Given the description of an element on the screen output the (x, y) to click on. 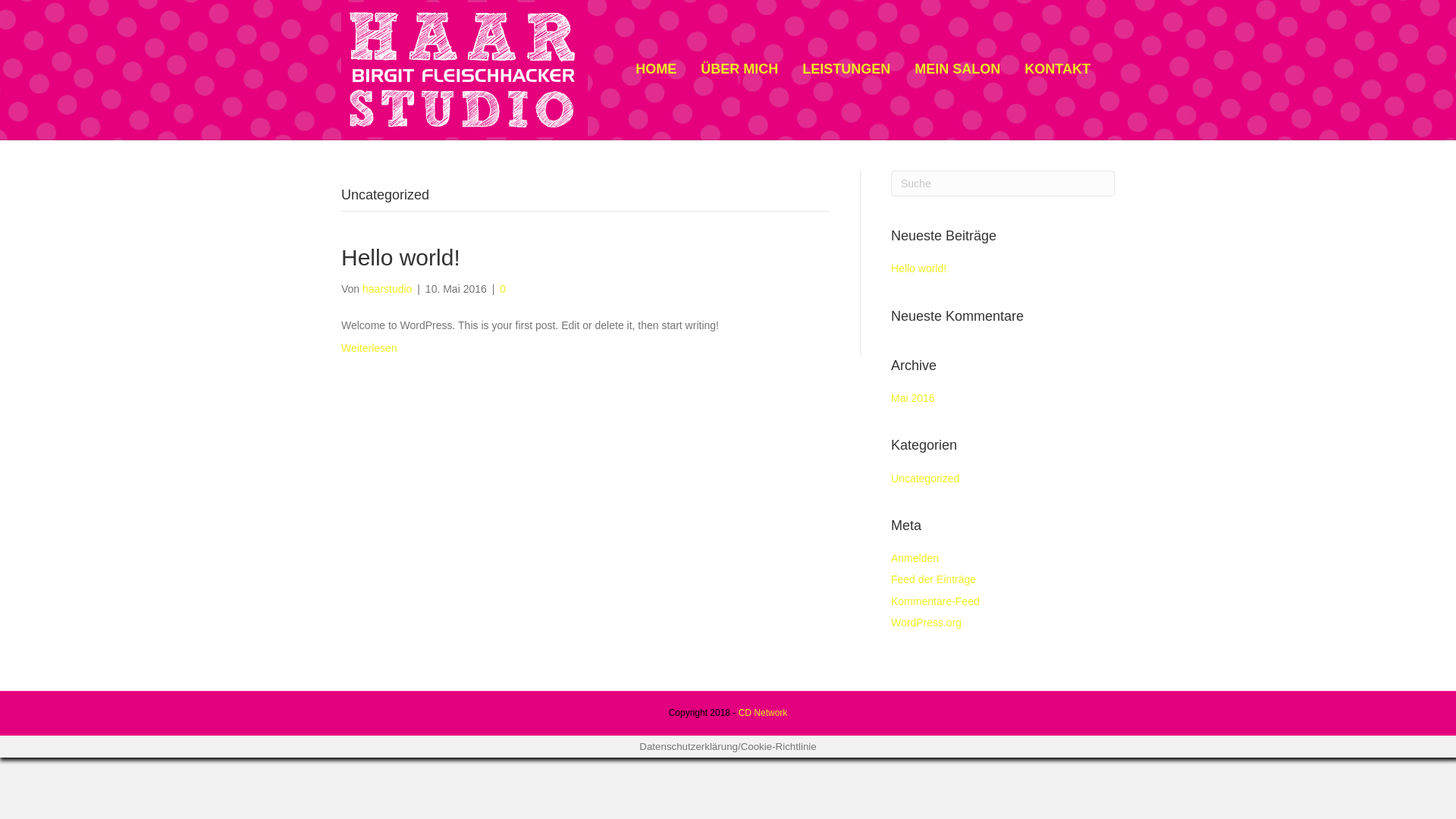
CD Network Element type: text (762, 712)
Anmelden Element type: text (914, 558)
Uncategorized Element type: text (925, 477)
Mai 2016 Element type: text (913, 398)
Hello world! Element type: text (918, 268)
LEISTUNGEN Element type: text (846, 69)
MEIN SALON Element type: text (957, 69)
Hello world! Element type: text (400, 256)
haarstudio Element type: text (386, 288)
Kommentare-Feed Element type: text (935, 601)
Suchbegriff hier eingeben ... Element type: hover (1002, 183)
Weiterlesen Element type: text (369, 348)
KONTAKT Element type: text (1057, 69)
HOME Element type: text (655, 69)
0 Element type: text (502, 288)
WordPress.org Element type: text (926, 622)
